Given the description of an element on the screen output the (x, y) to click on. 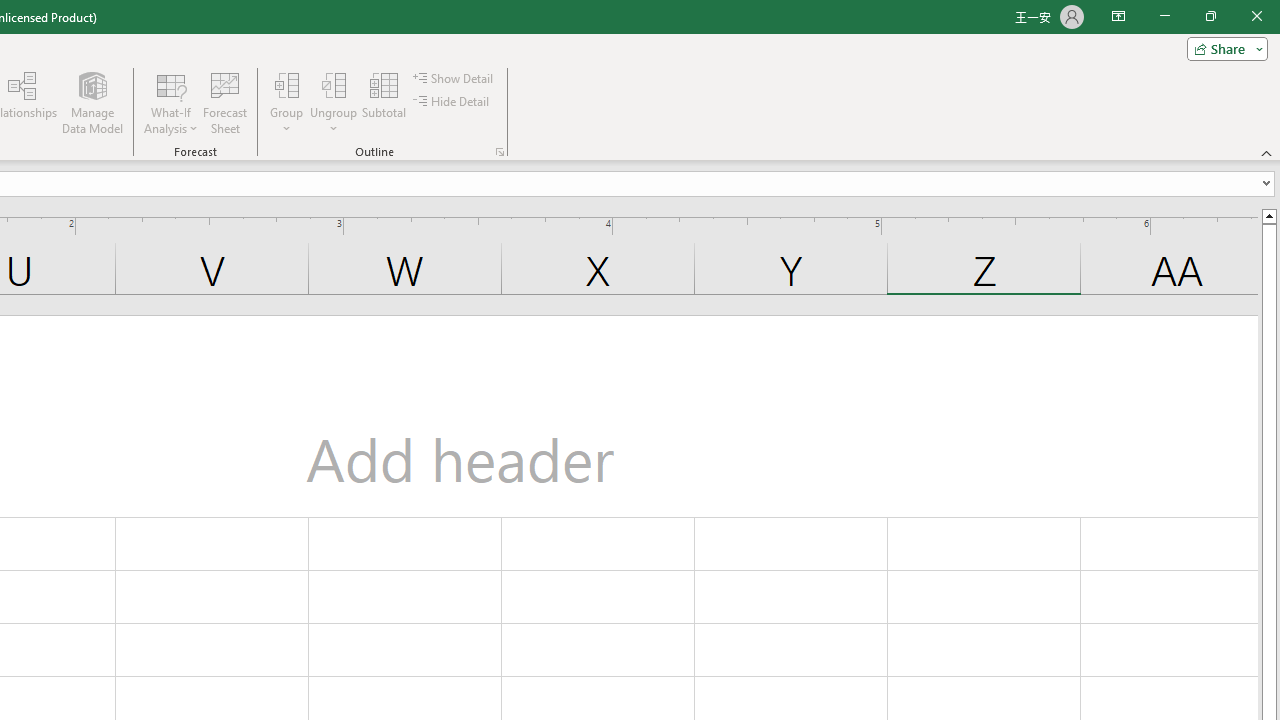
Group... (287, 84)
Hide Detail (452, 101)
Forecast Sheet (224, 102)
More Options (333, 121)
Minimize (1164, 16)
What-If Analysis (171, 102)
Ribbon Display Options (1118, 16)
Restore Down (1210, 16)
Line up (1268, 215)
Ungroup... (333, 102)
Manage Data Model (92, 102)
Ungroup... (333, 84)
Close (1256, 16)
Subtotal (384, 102)
